Given the description of an element on the screen output the (x, y) to click on. 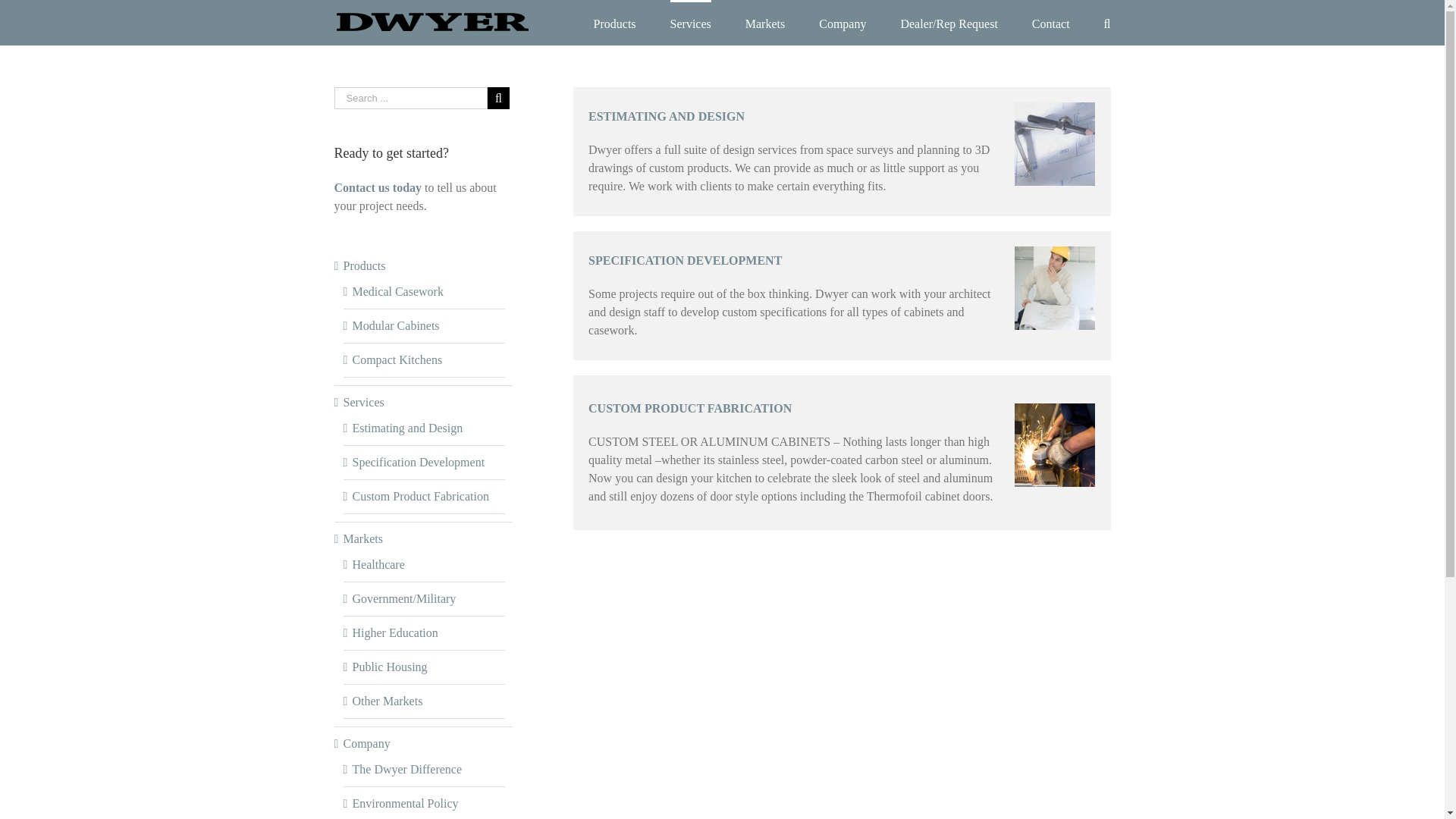
Company (842, 22)
Services (690, 22)
Products (615, 22)
Contact (1051, 22)
Markets (764, 22)
